Given the description of an element on the screen output the (x, y) to click on. 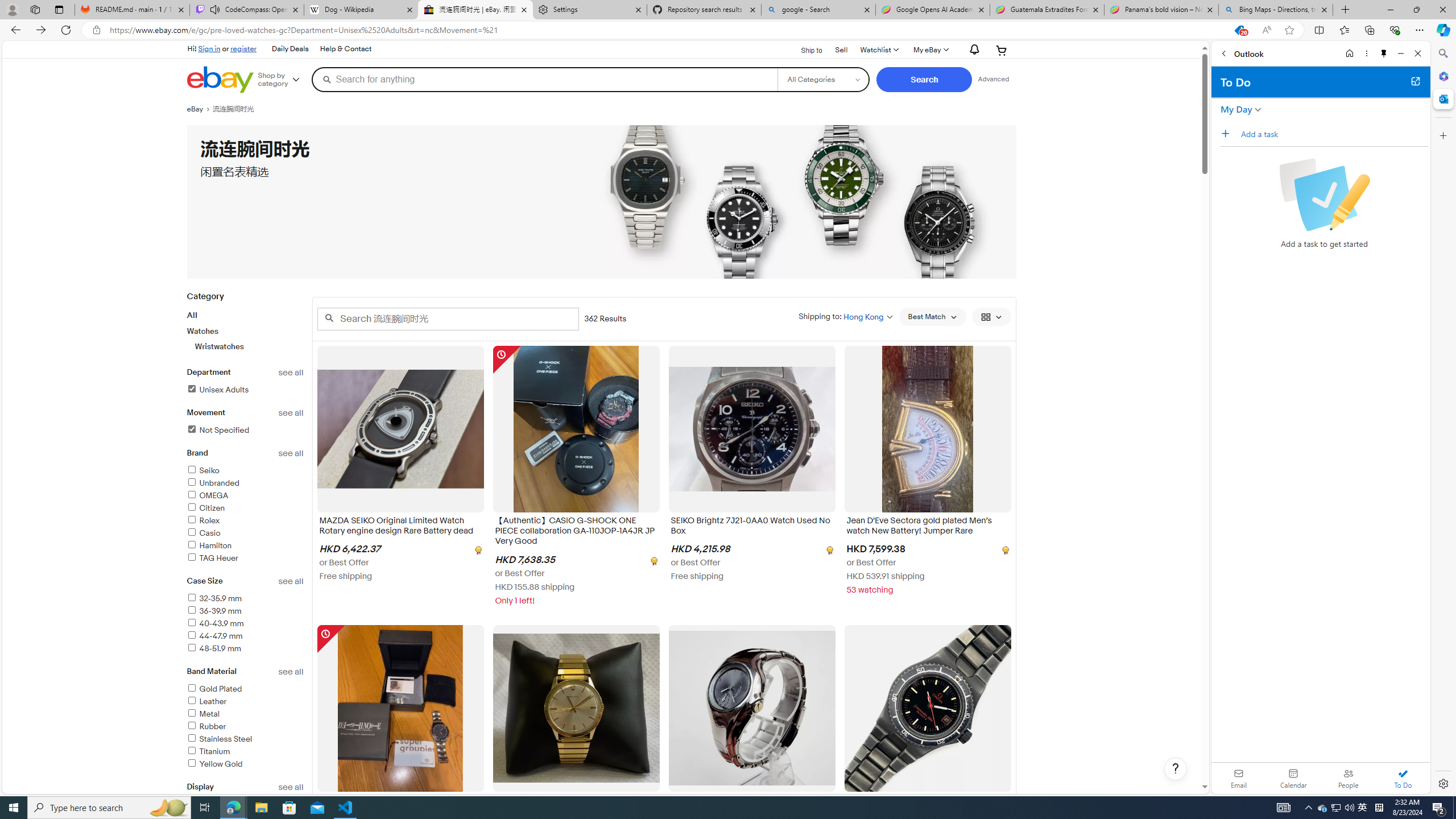
Help, opens dialogs (1175, 768)
Stainless Steel (245, 739)
Departmentsee allUnisex AdultsFilter Applied (245, 387)
See all case size refinements (291, 581)
Open in new tab (1414, 80)
Email (1238, 777)
